Given the description of an element on the screen output the (x, y) to click on. 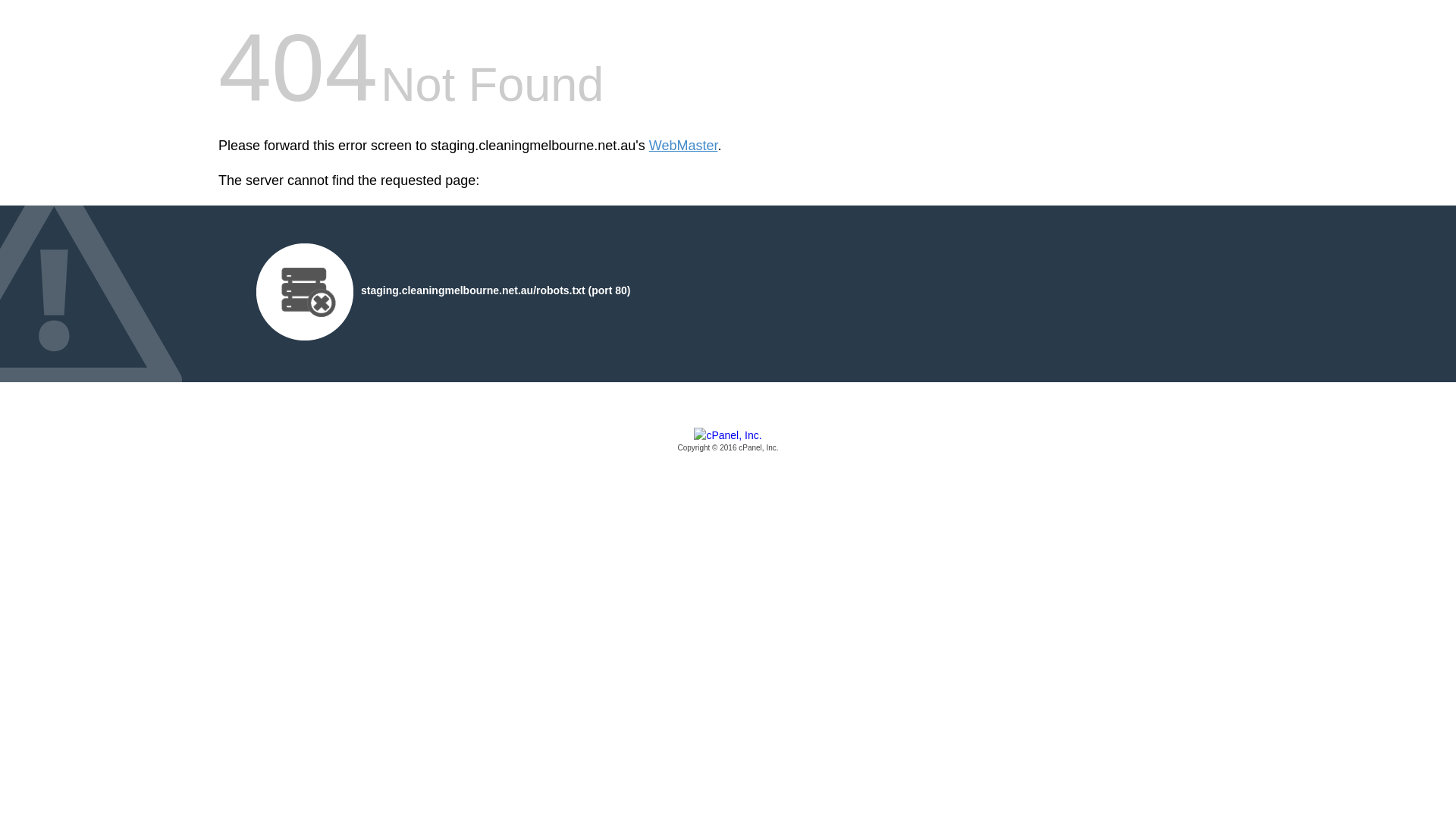
WebMaster Element type: text (683, 145)
